Given the description of an element on the screen output the (x, y) to click on. 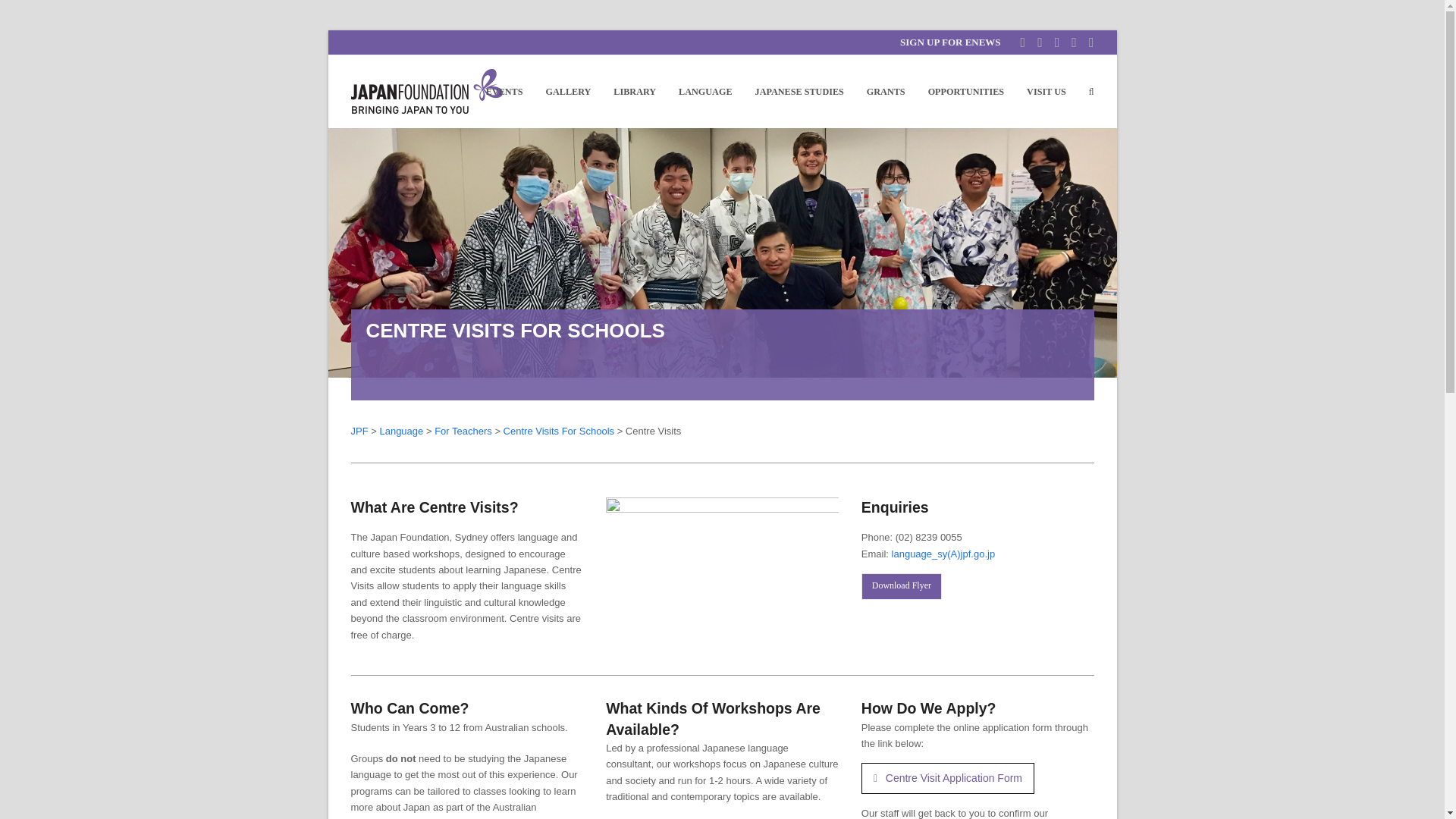
Go to For Teachers. (462, 430)
EVENTS (504, 91)
LANGUAGE (704, 91)
SIGN UP FOR ENEWS (950, 41)
Go to Language. (400, 430)
Button Text (901, 586)
Go to Japan Foundation, Sydney. (359, 430)
GALLERY (568, 91)
LIBRARY (634, 91)
